Given the description of an element on the screen output the (x, y) to click on. 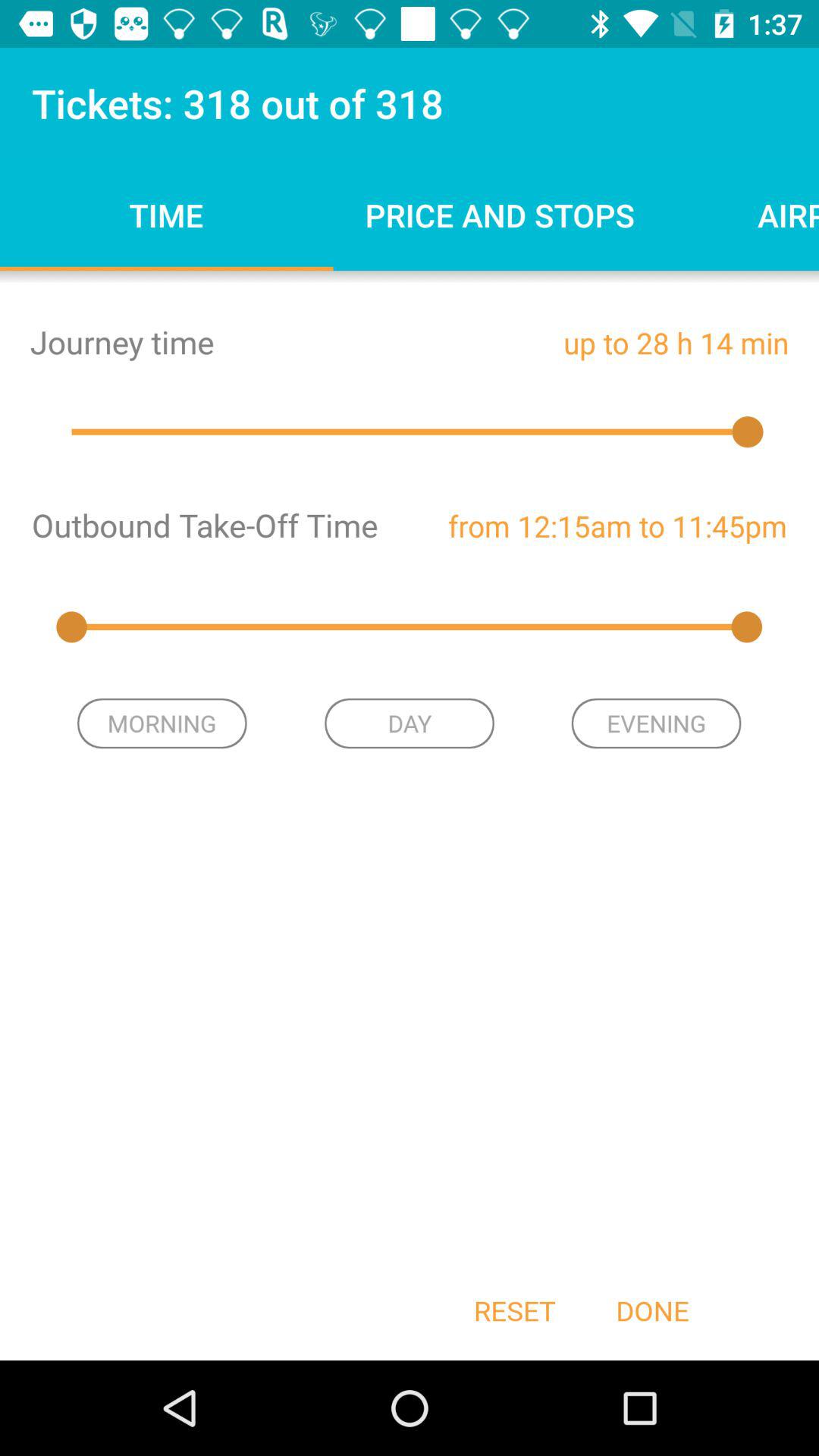
open done at the bottom right corner (652, 1310)
